Given the description of an element on the screen output the (x, y) to click on. 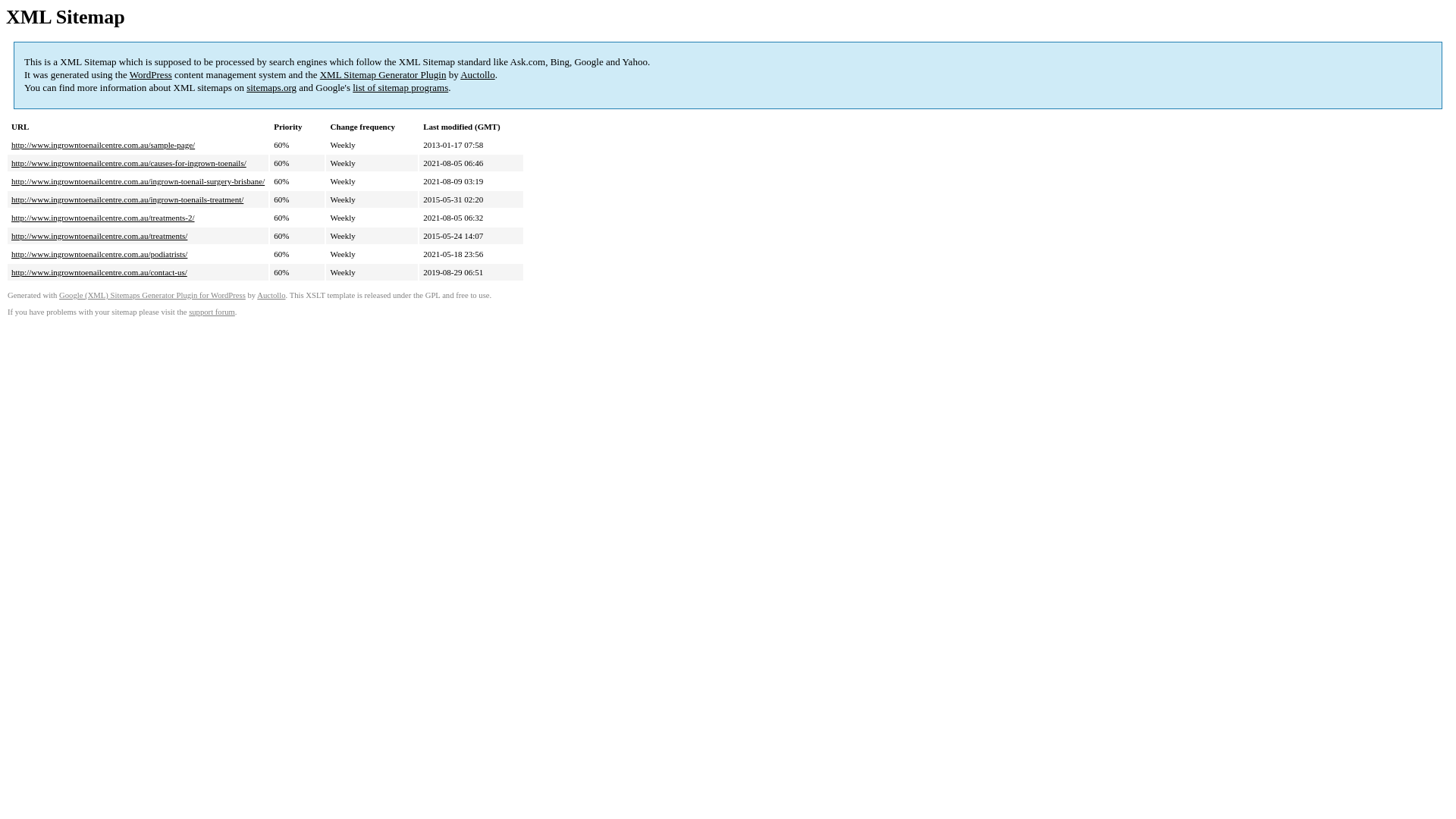
http://www.ingrowntoenailcentre.com.au/sample-page/ Element type: text (102, 144)
Auctollo Element type: text (477, 74)
support forum Element type: text (211, 311)
sitemaps.org Element type: text (271, 87)
Google (XML) Sitemaps Generator Plugin for WordPress Element type: text (152, 295)
http://www.ingrowntoenailcentre.com.au/podiatrists/ Element type: text (99, 253)
list of sitemap programs Element type: text (400, 87)
Auctollo Element type: text (271, 295)
XML Sitemap Generator Plugin Element type: text (383, 74)
WordPress Element type: text (150, 74)
http://www.ingrowntoenailcentre.com.au/treatments/ Element type: text (99, 235)
http://www.ingrowntoenailcentre.com.au/treatments-2/ Element type: text (102, 217)
http://www.ingrowntoenailcentre.com.au/contact-us/ Element type: text (99, 271)
